Given the description of an element on the screen output the (x, y) to click on. 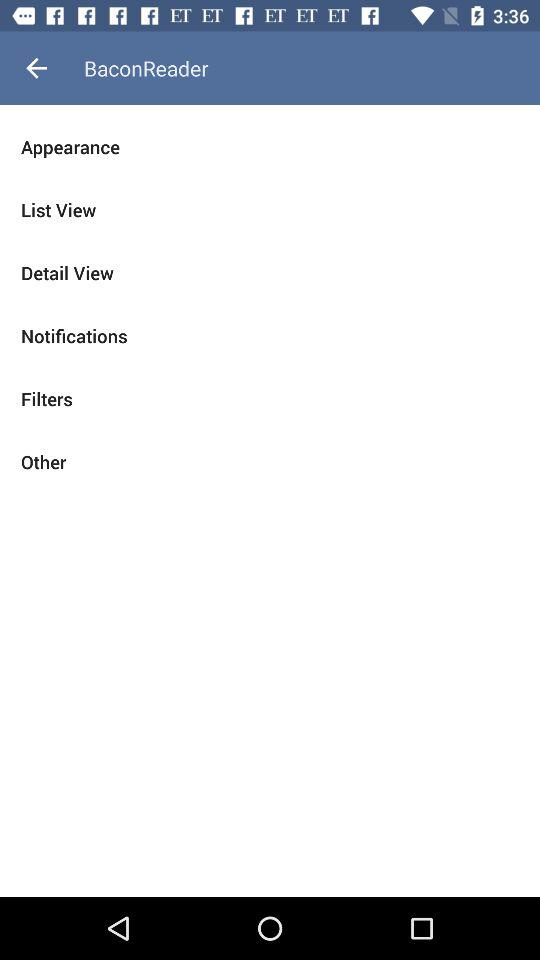
press the detail view (270, 272)
